Given the description of an element on the screen output the (x, y) to click on. 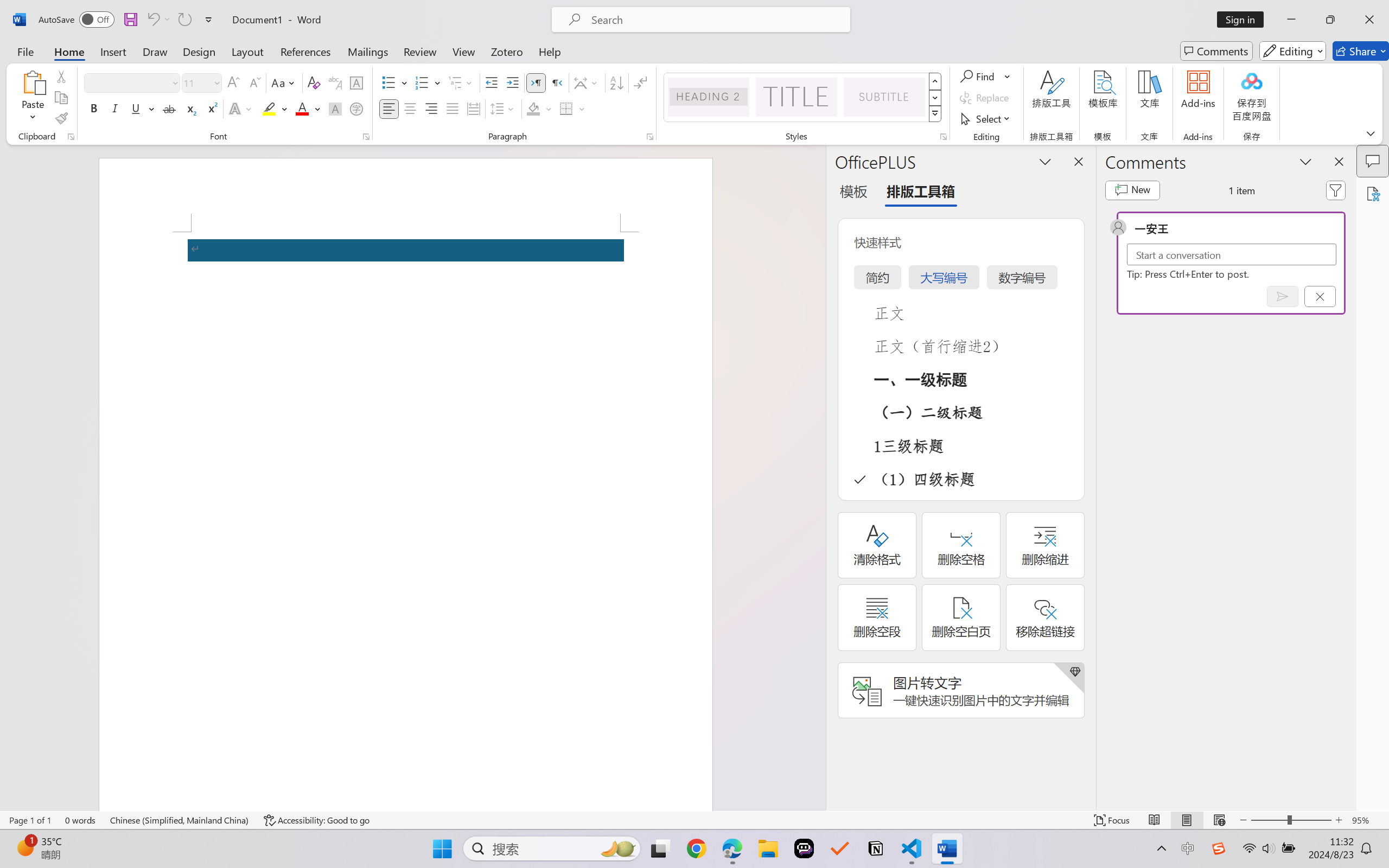
Undo Apply Quick Style Set (158, 19)
